Given the description of an element on the screen output the (x, y) to click on. 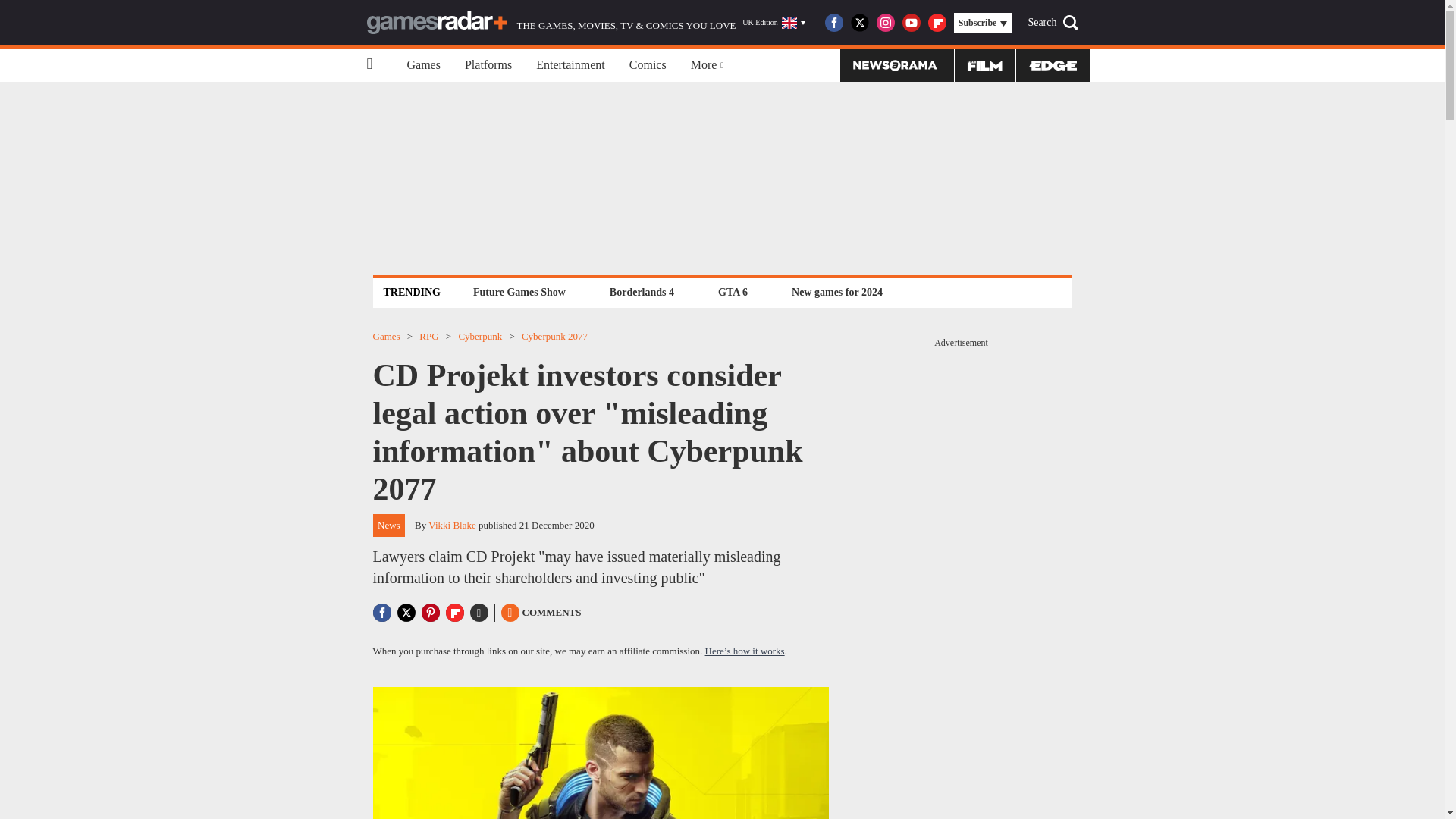
Entertainment (570, 64)
Borderlands 4 (641, 292)
Games (422, 64)
Platforms (488, 64)
UK Edition (773, 22)
Comics (647, 64)
Future Games Show (518, 292)
New games for 2024 (837, 292)
GTA 6 (732, 292)
